Given the description of an element on the screen output the (x, y) to click on. 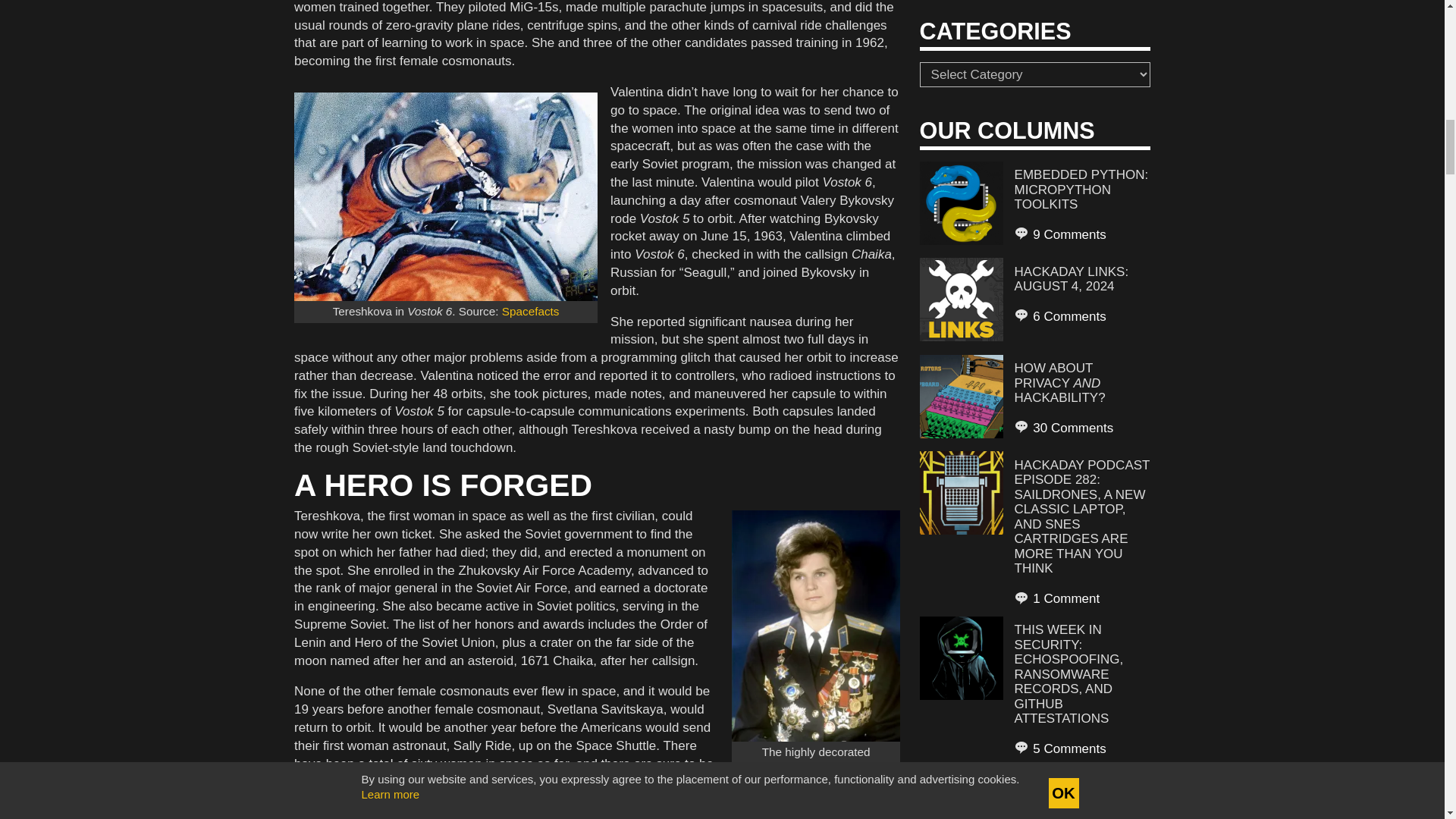
Allrus.me (836, 803)
Spacefacts (530, 310)
